Given the description of an element on the screen output the (x, y) to click on. 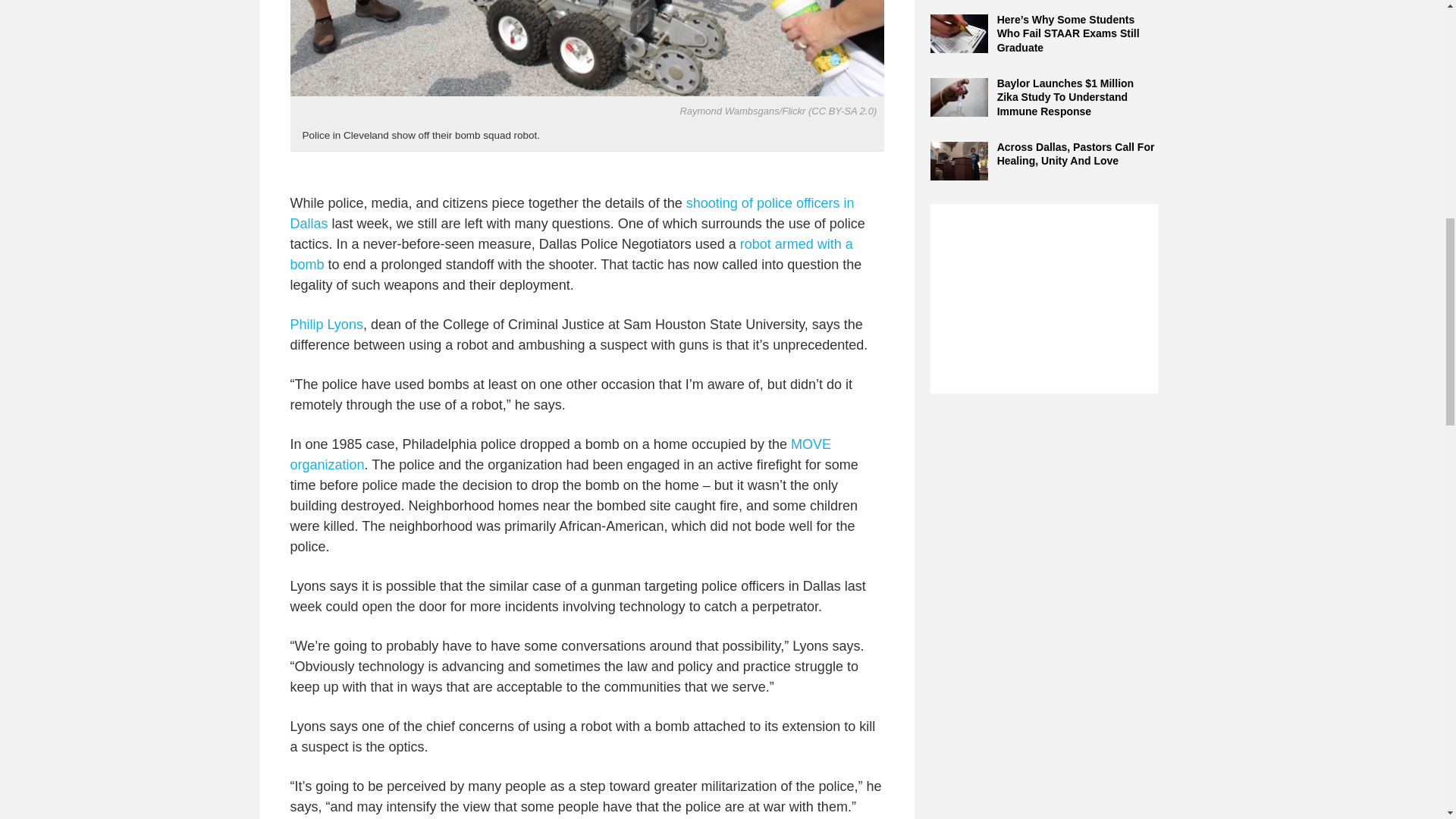
3rd party ad content (1043, 298)
